Given the description of an element on the screen output the (x, y) to click on. 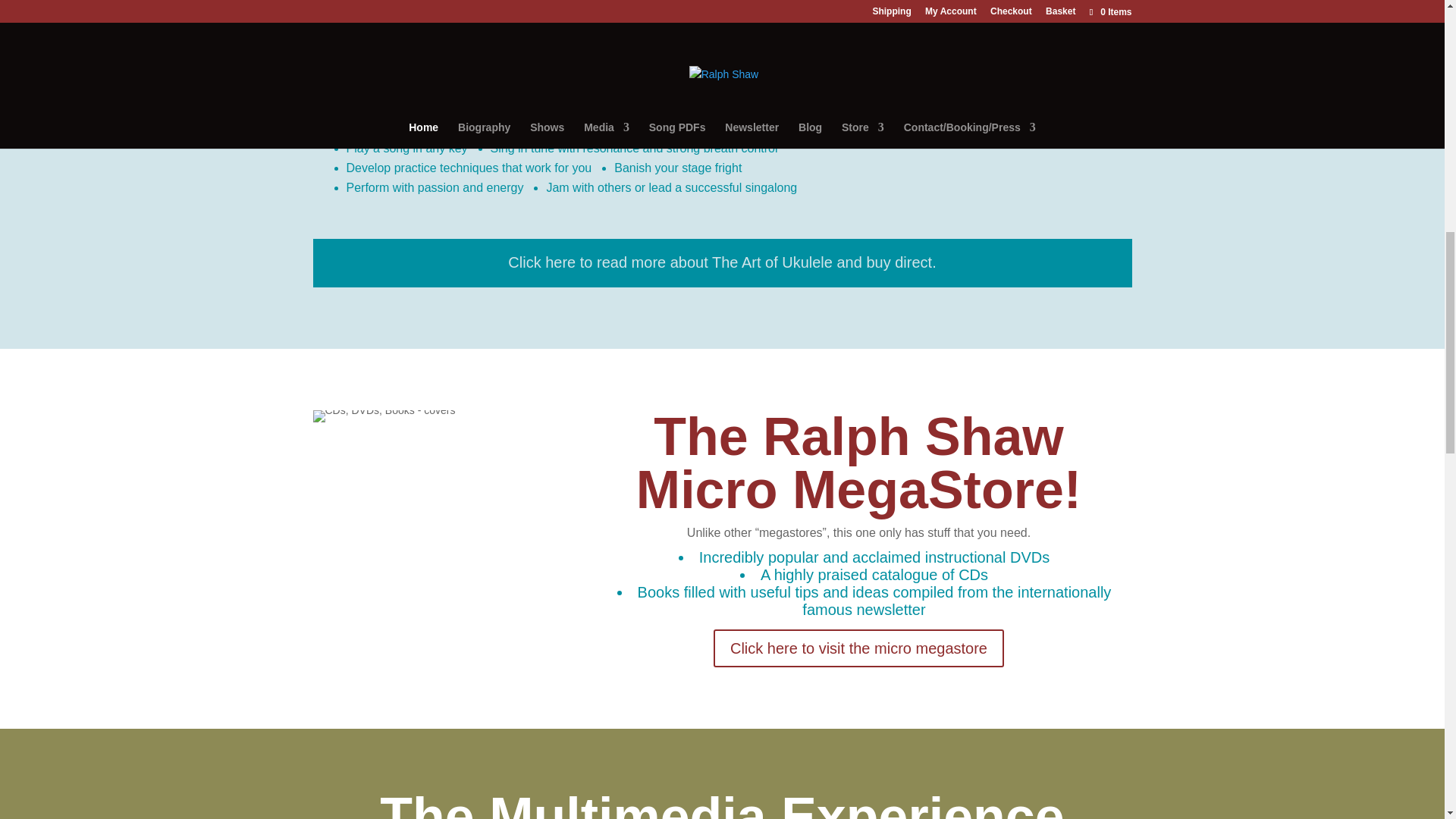
CDs, DVDs, Books - covers (383, 416)
Click here to visit the micro megastore (858, 648)
